Given the description of an element on the screen output the (x, y) to click on. 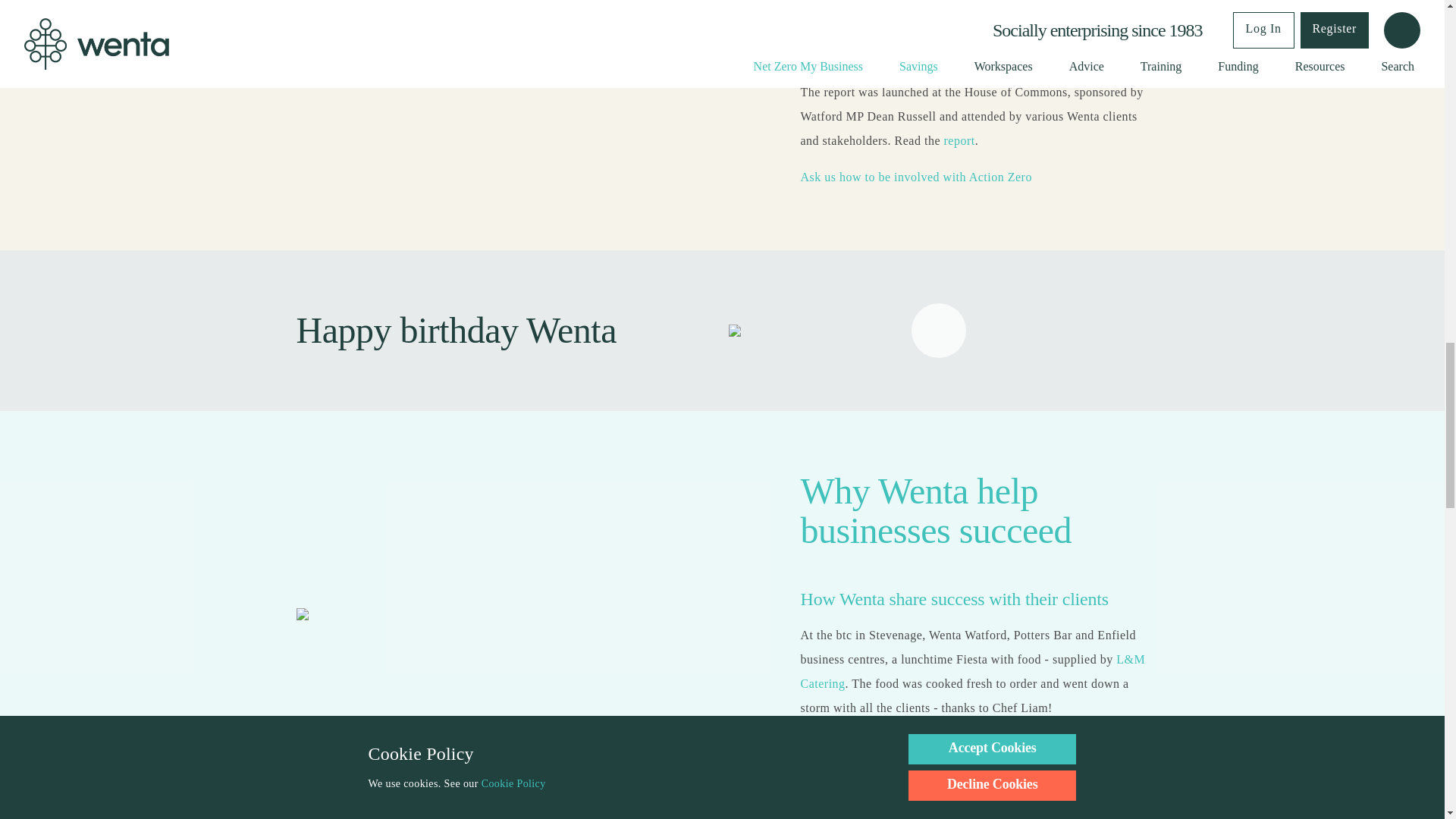
Ask us how to be involved with Action Zero (916, 176)
Action Zero (916, 176)
report (958, 140)
